Given the description of an element on the screen output the (x, y) to click on. 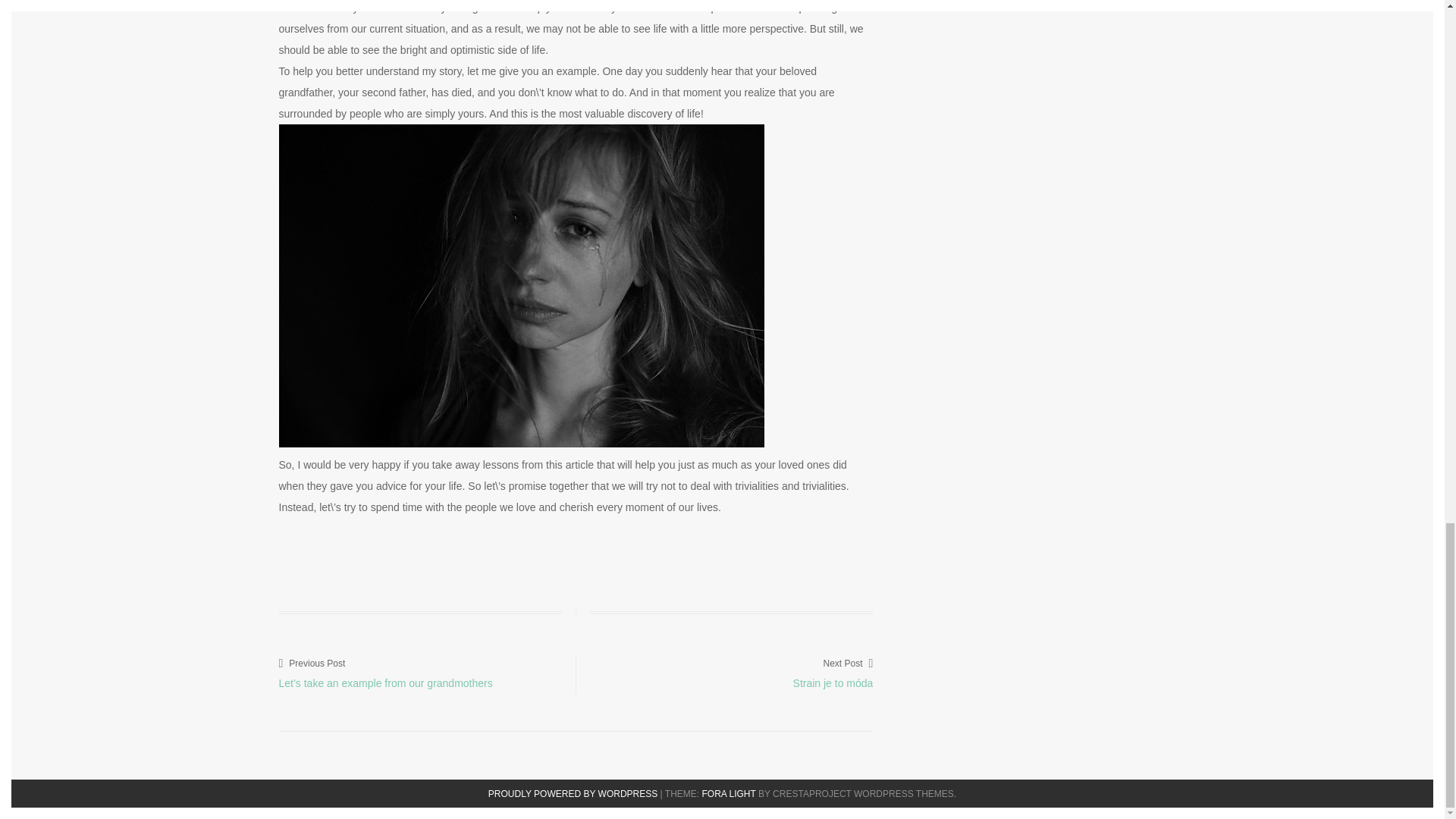
PROUDLY POWERED BY WORDPRESS (572, 793)
FORA LIGHT (728, 793)
Fora Theme (728, 793)
